Given the description of an element on the screen output the (x, y) to click on. 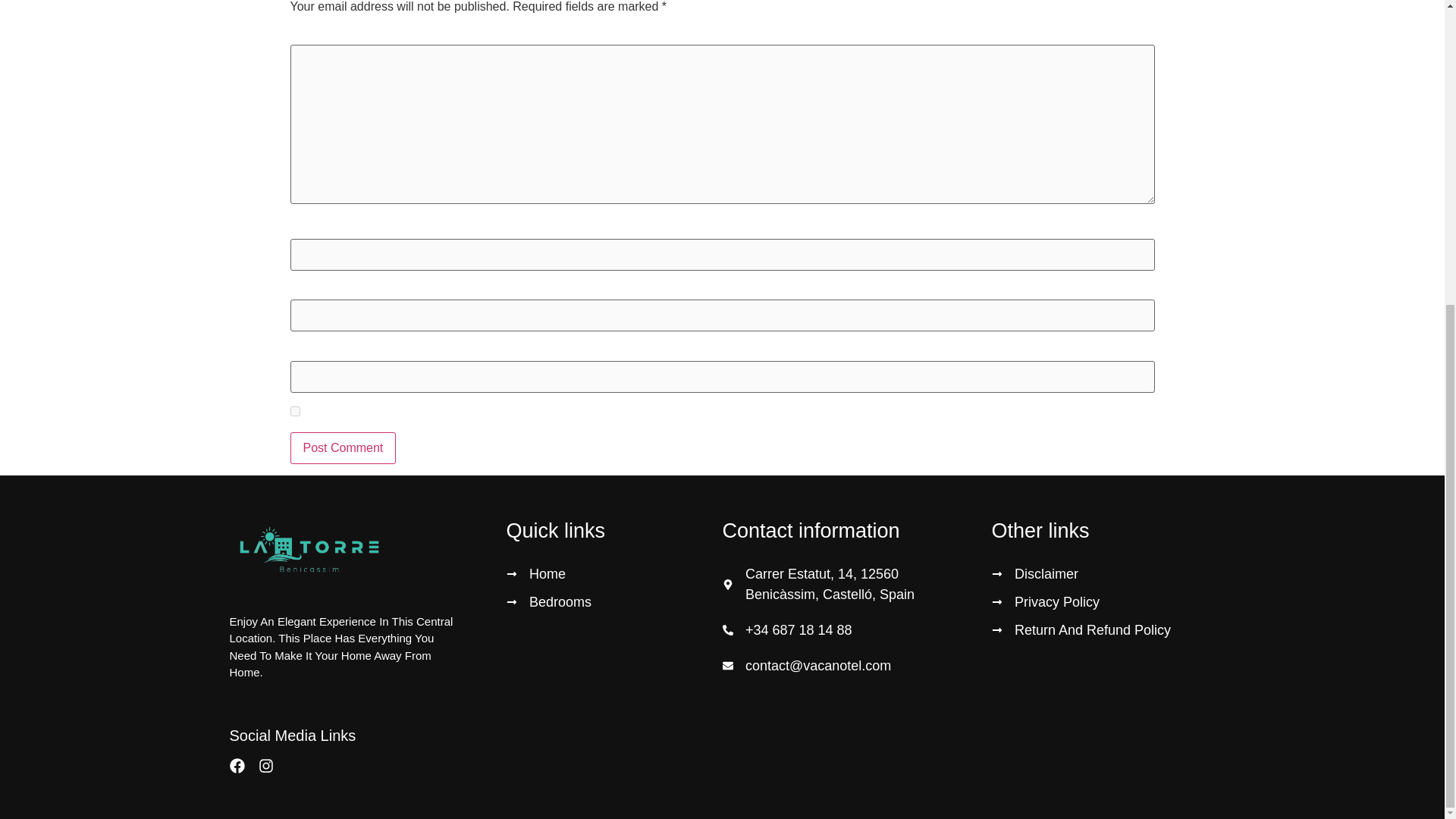
yes (294, 411)
Home (614, 574)
Disclaimer (1103, 574)
Post Comment (342, 448)
Privacy Policy (1103, 602)
Return And Refund Policy (1103, 629)
Post Comment (342, 448)
Bedrooms (614, 602)
